Given the description of an element on the screen output the (x, y) to click on. 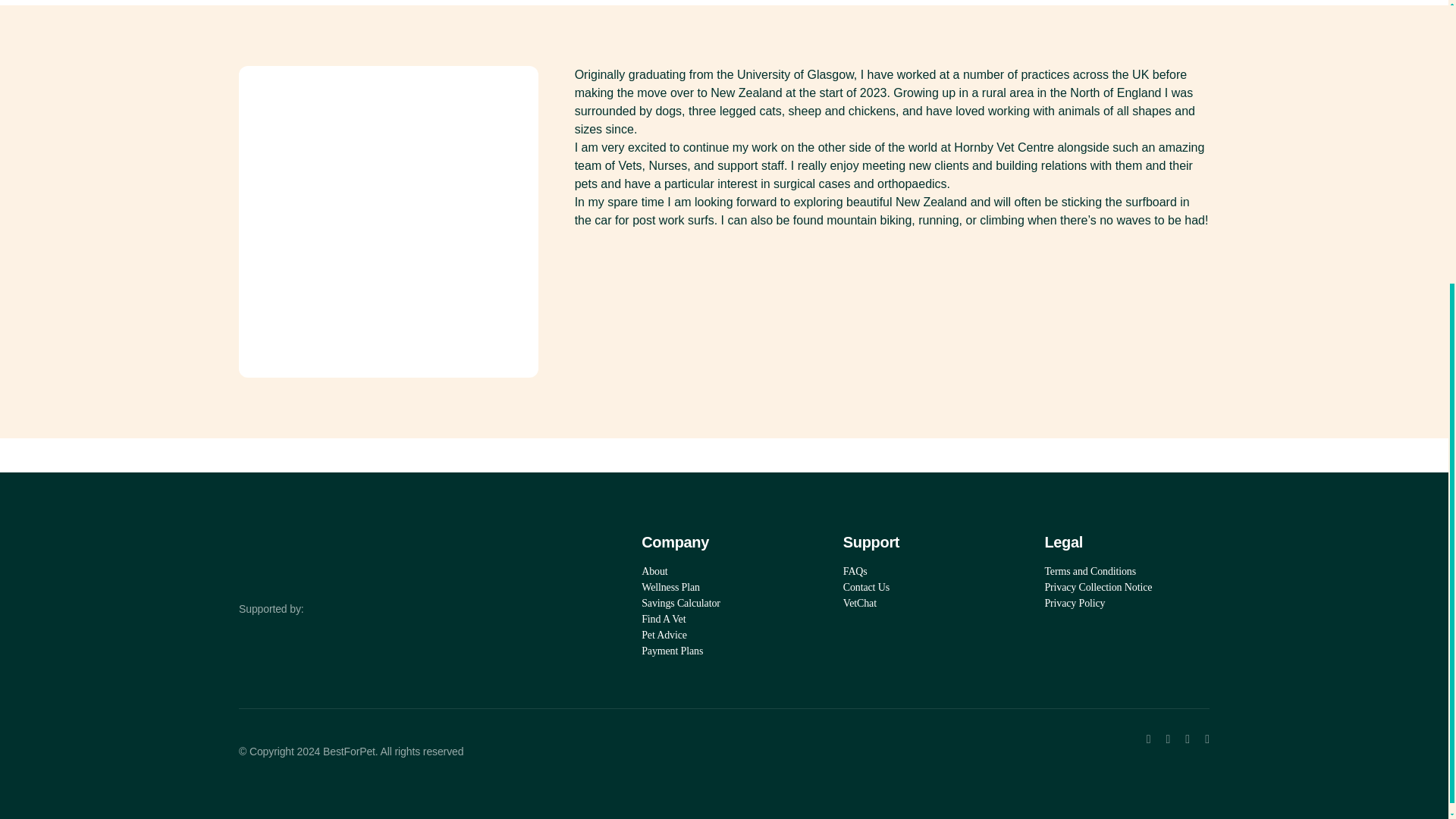
Instagram (1168, 739)
Pet Advice (724, 634)
About (724, 571)
Find A Vet (724, 618)
Savings Calculator (724, 602)
Privacy Collection Notice (1126, 587)
Payment Plans (724, 650)
Terms and Conditions (1126, 571)
Tiktok (1187, 739)
Wellness Plan (724, 587)
VetChat (926, 602)
FAQs (926, 571)
logo-1x-white (345, 543)
Contact Us (926, 587)
Privacy Policy (1126, 602)
